Given the description of an element on the screen output the (x, y) to click on. 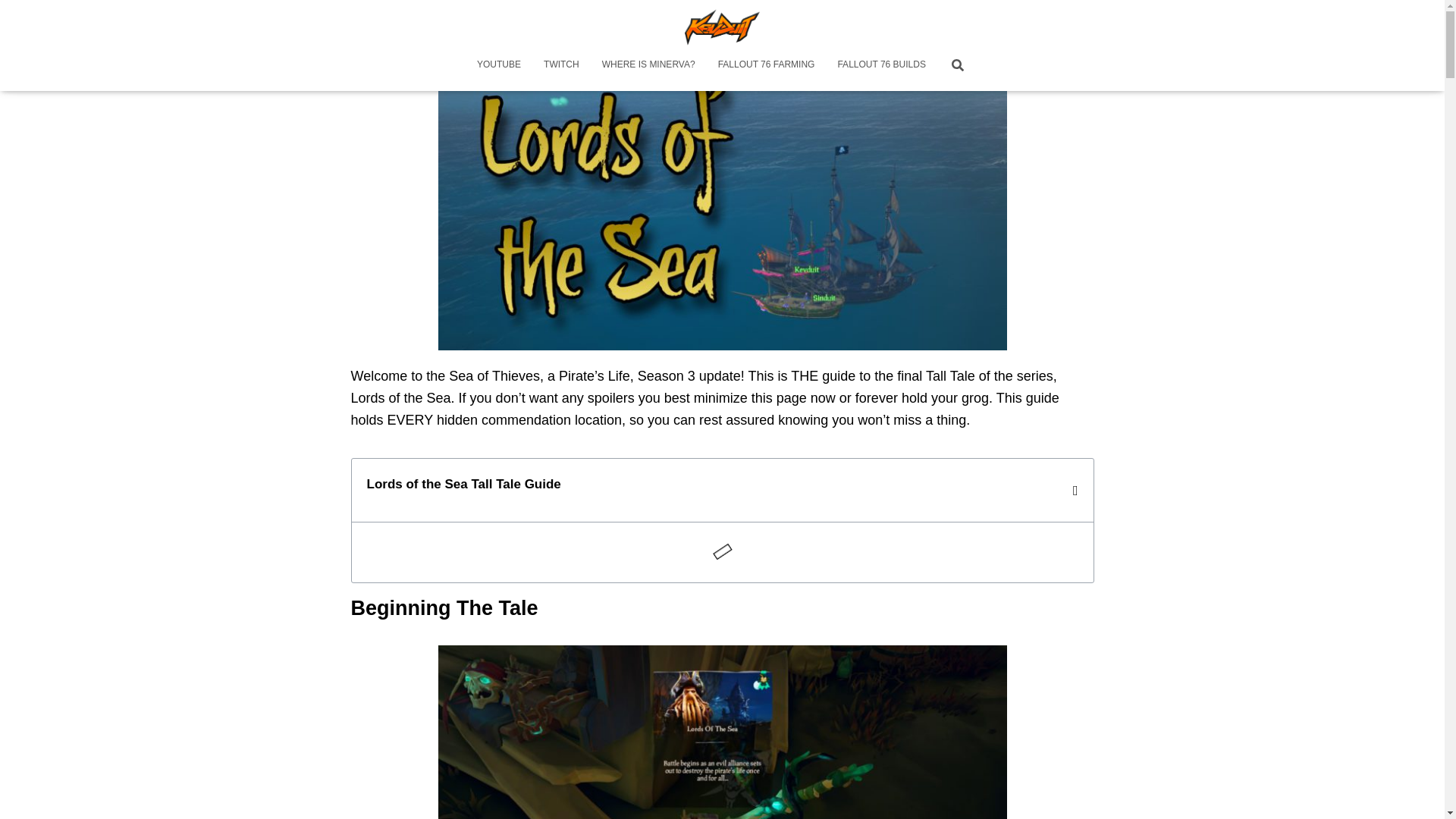
Kevduit (721, 26)
WHERE IS MINERVA? (648, 64)
FALLOUT 76 FARMING (766, 64)
YouTube (498, 64)
YOUTUBE (498, 64)
Twitch (561, 64)
FALLOUT 76 BUILDS (881, 64)
Fallout 76 Builds (881, 64)
Where is Minerva? (648, 64)
Fallout 76 Farming (766, 64)
